Given the description of an element on the screen output the (x, y) to click on. 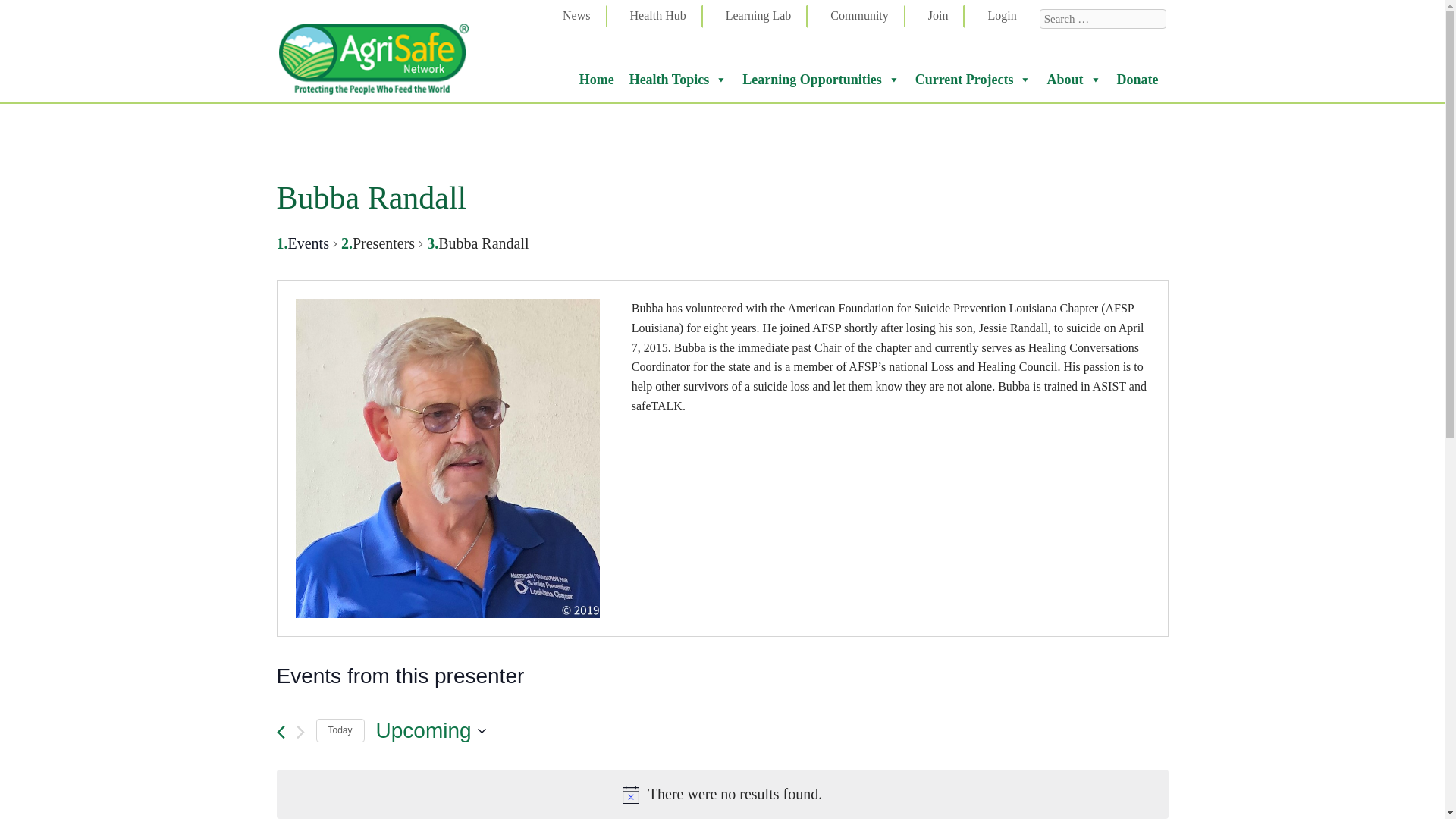
Login (1007, 15)
Bubba Randall (447, 458)
Join (944, 15)
Home (596, 79)
News (583, 15)
Health Hub (664, 15)
Community (865, 15)
Login (1007, 15)
Health Topics (678, 79)
Click to toggle datepicker (772, 730)
